Given the description of an element on the screen output the (x, y) to click on. 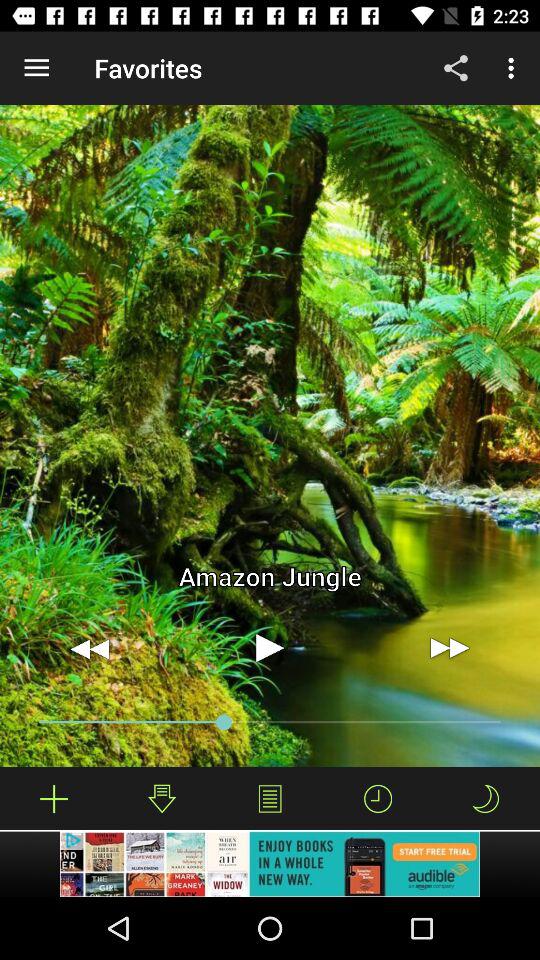
go to download (162, 798)
